Given the description of an element on the screen output the (x, y) to click on. 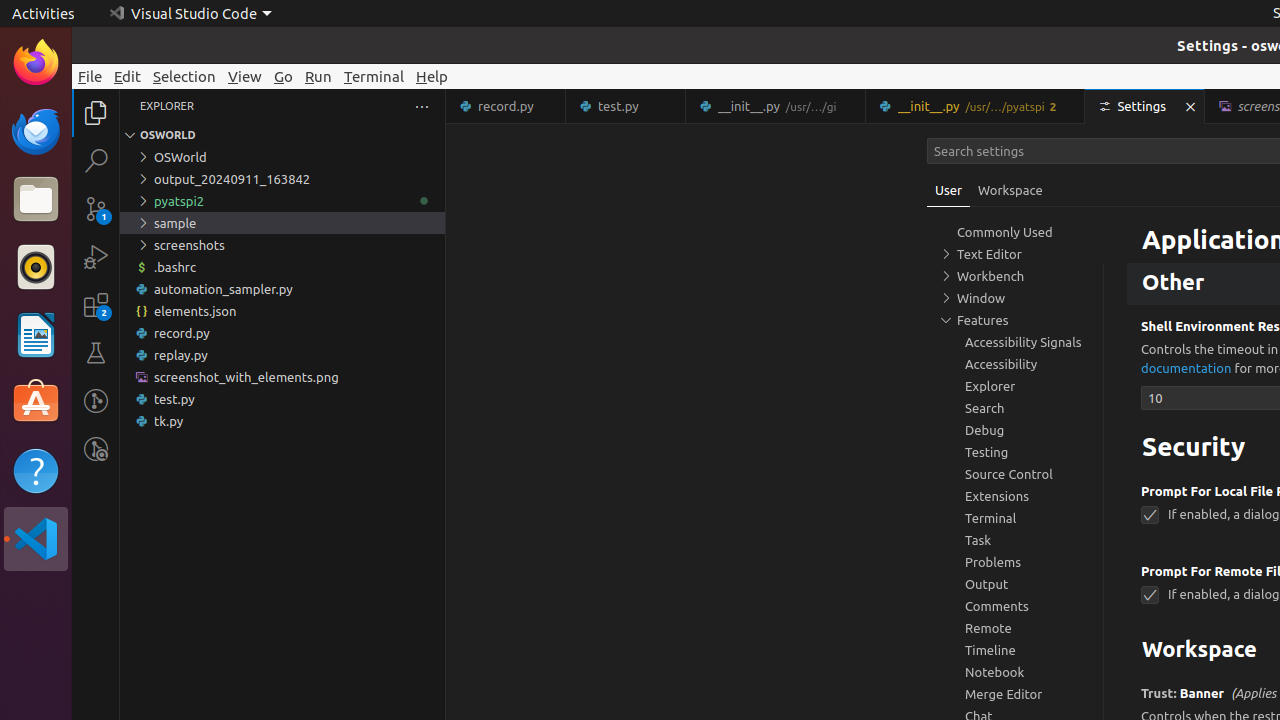
Explorer (Ctrl+Shift+E) Element type: page-tab (96, 113)
pyatspi2 Element type: tree-item (282, 201)
Window, group Element type: tree-item (1015, 298)
test.py Element type: page-tab (626, 106)
Edit Element type: push-button (127, 76)
